Given the description of an element on the screen output the (x, y) to click on. 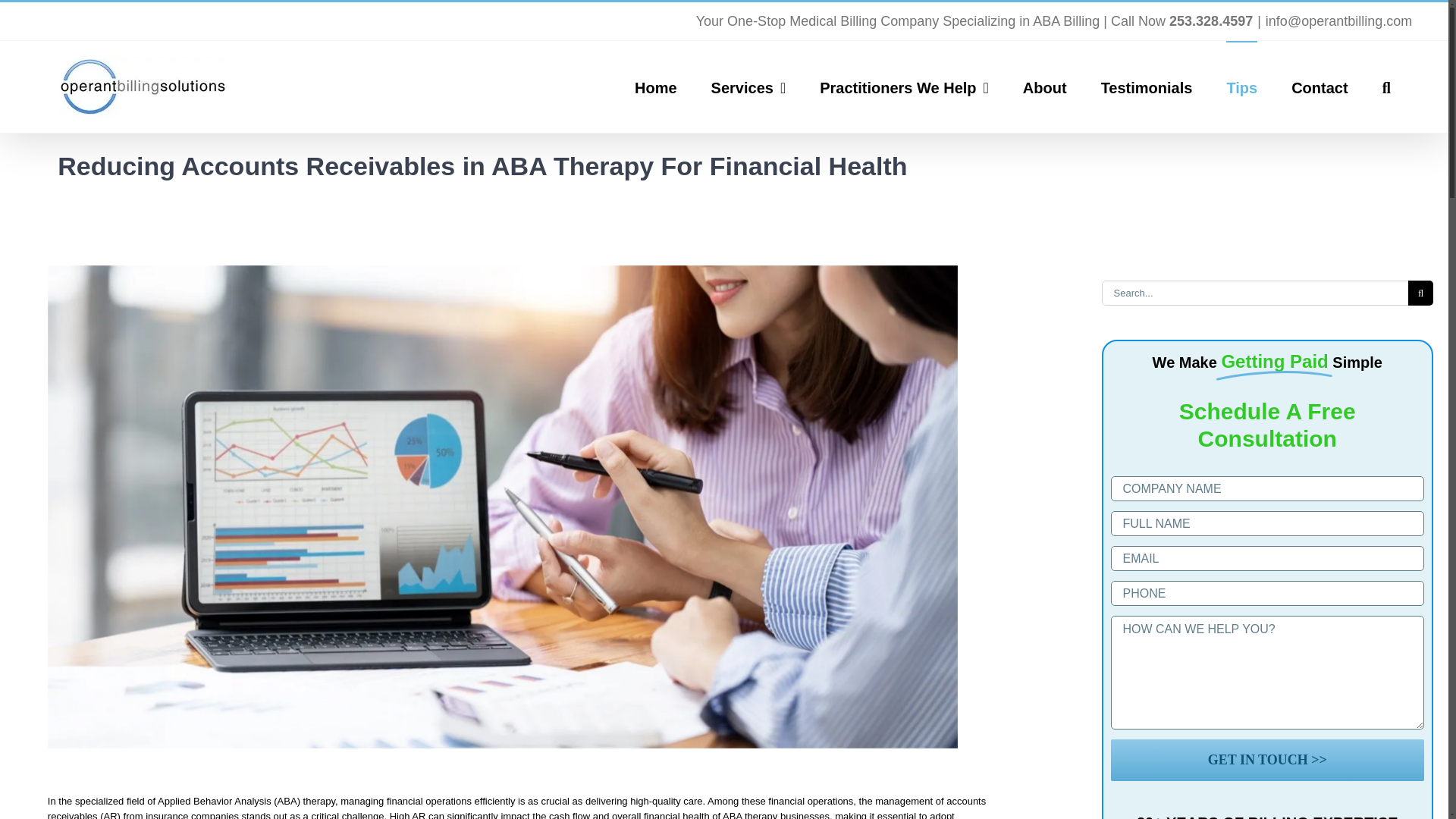
253.328.4597 (1210, 20)
Practitioners We Help (903, 86)
Testimonials (1146, 86)
